Given the description of an element on the screen output the (x, y) to click on. 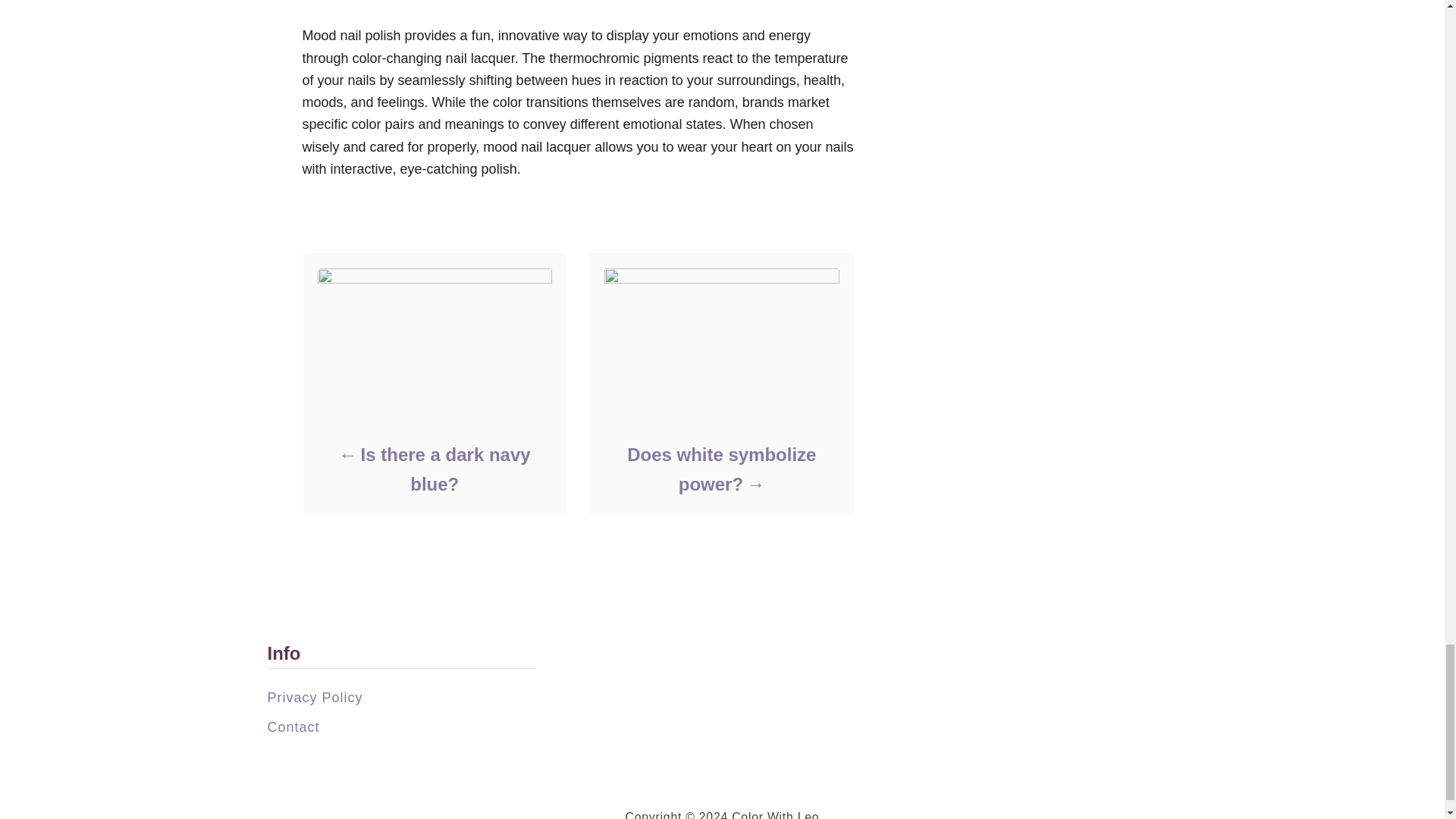
Contact (292, 726)
Is there a dark navy blue? (434, 468)
Privacy Policy (314, 697)
Does white symbolize power? (721, 468)
